Given the description of an element on the screen output the (x, y) to click on. 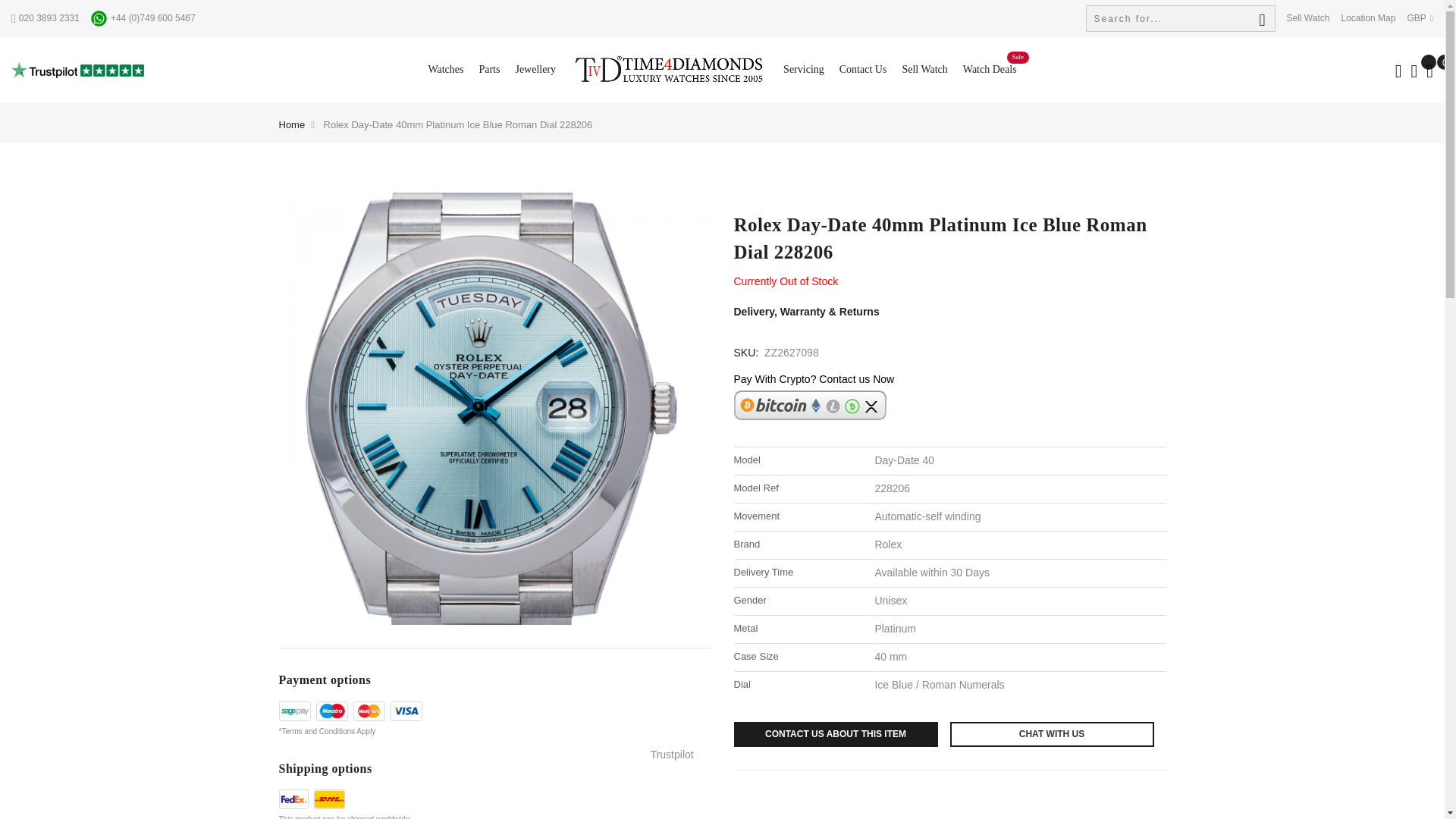
Watches (445, 69)
Location Map (1367, 18)
Sell Watch (1307, 18)
 020 3893 2331 (45, 18)
Search (1261, 14)
Go to Home Page (292, 124)
